Given the description of an element on the screen output the (x, y) to click on. 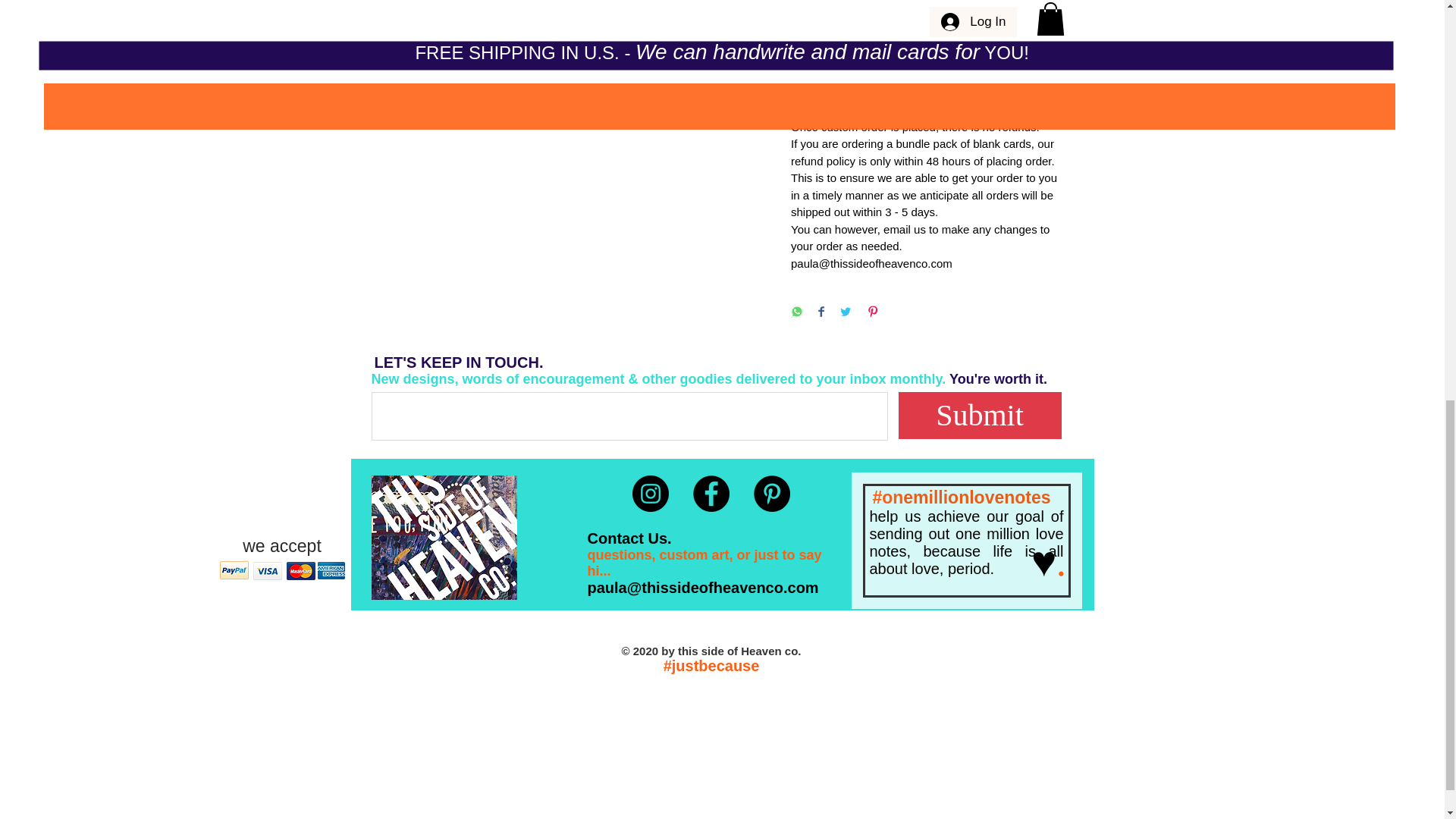
RETURN AND REFUND POLICY (924, 95)
Submit (979, 415)
